Given the description of an element on the screen output the (x, y) to click on. 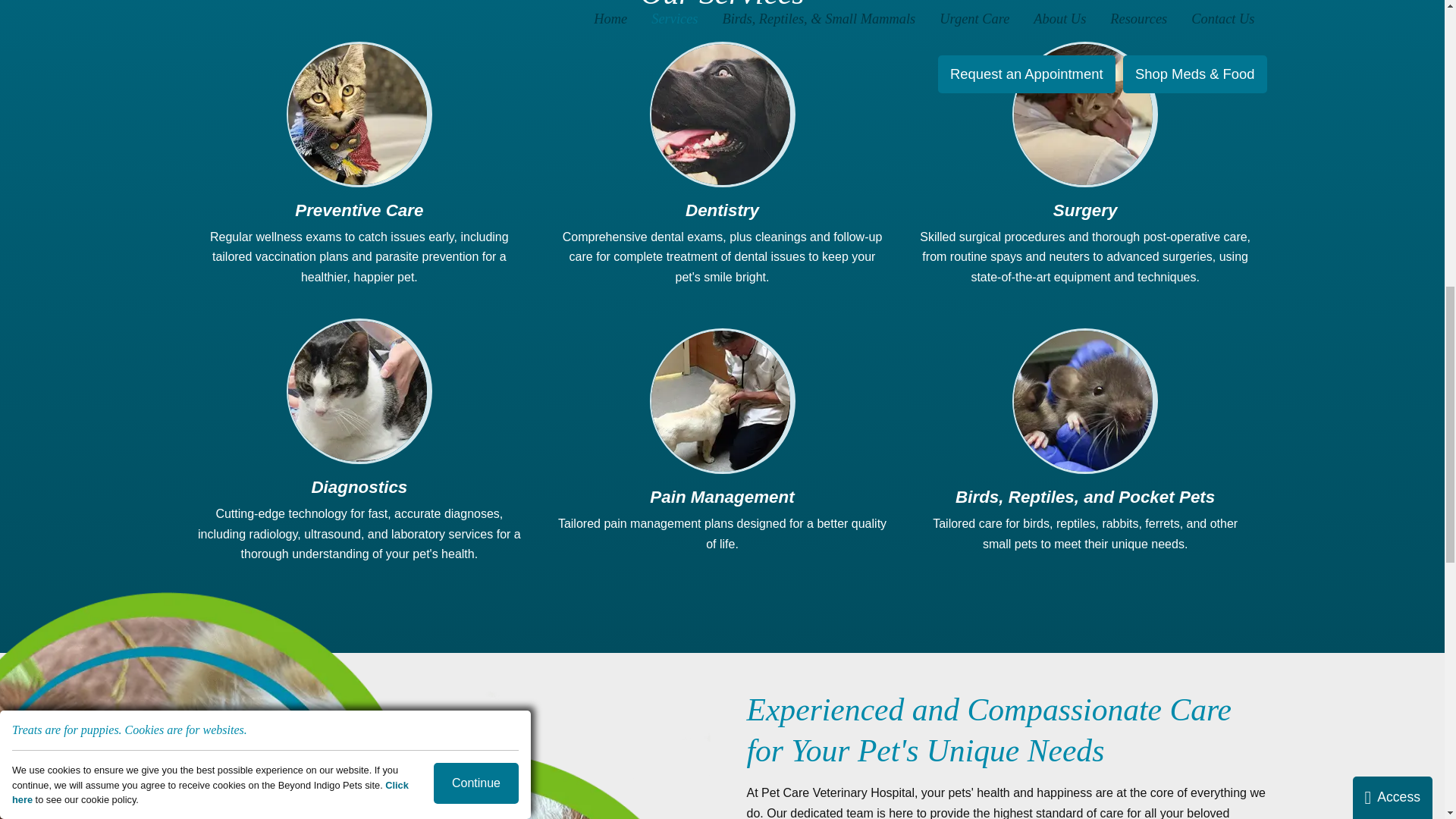
Surgery (1083, 114)
Pain Management (719, 400)
Preventive Care (357, 114)
Exotic (1083, 400)
Dental Care (719, 114)
Diagnostics (357, 391)
